Given the description of an element on the screen output the (x, y) to click on. 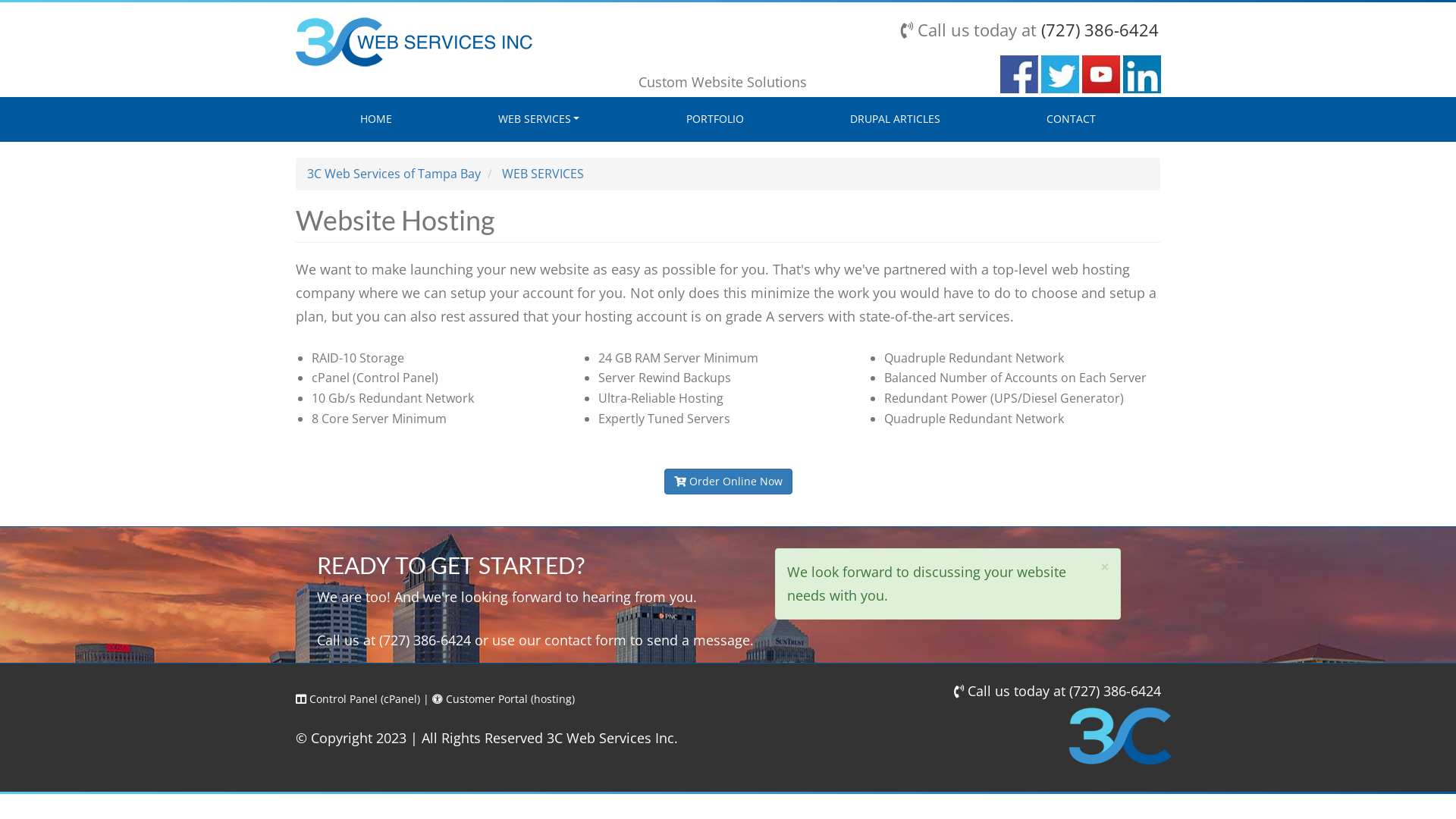
WEB SERVICES Element type: text (538, 119)
HOME Element type: text (376, 119)
(727) 386-6424 Element type: text (1098, 29)
DRUPAL ARTICLES Element type: text (895, 119)
Customer Portal (hosting) Element type: text (503, 698)
Order Online Now Element type: text (728, 481)
CONTACT Element type: text (1070, 119)
WEB SERVICES Element type: text (542, 173)
(727) 386-6424 Element type: text (1115, 690)
Control Panel (cPanel) Element type: text (357, 698)
Skip to main content Element type: text (0, 0)
3C Web Services of Tampa Bay Element type: text (393, 173)
Home Element type: hover (413, 40)
PORTFOLIO Element type: text (714, 119)
